Given the description of an element on the screen output the (x, y) to click on. 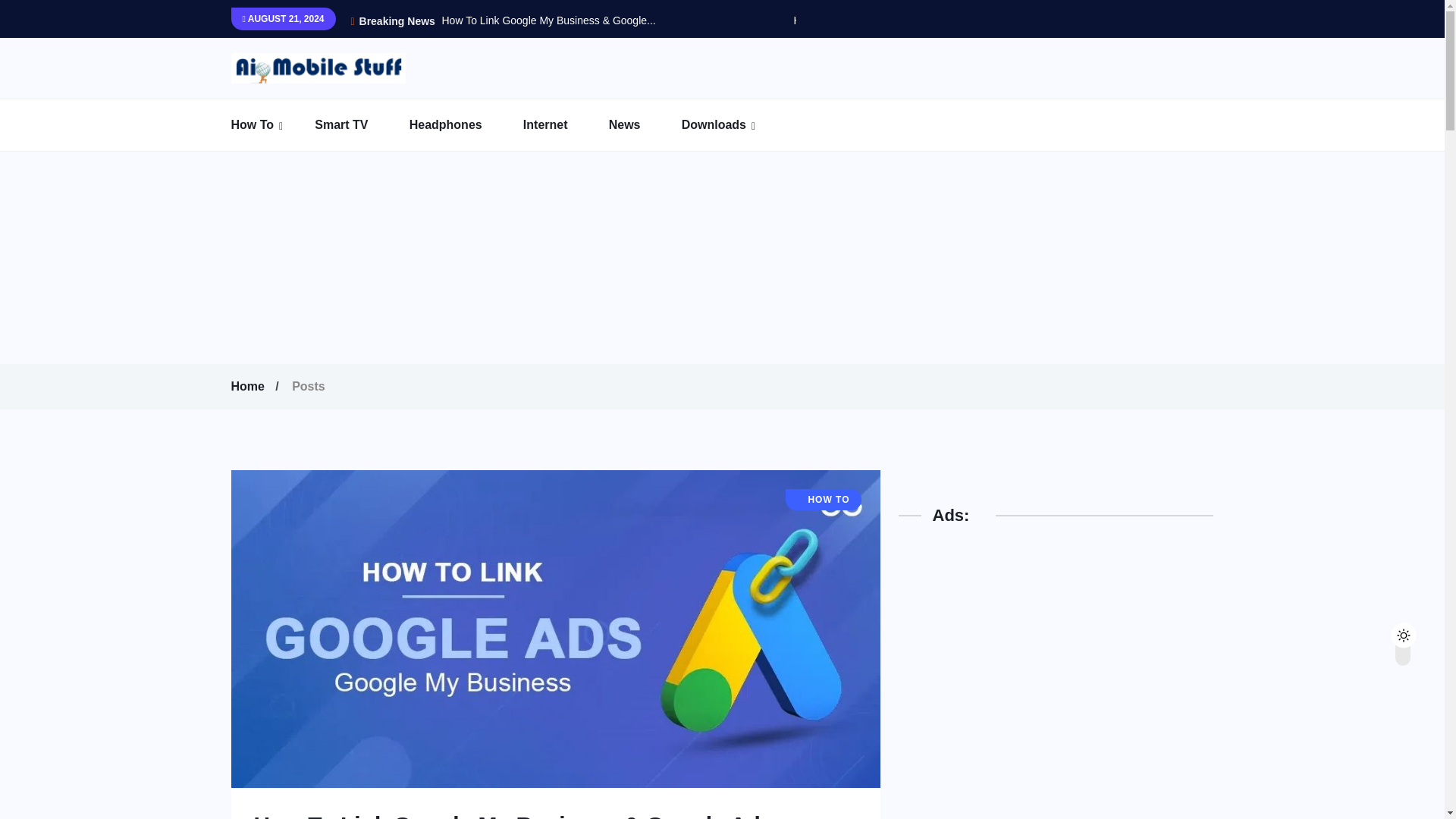
Wallpapers (775, 165)
Home (249, 386)
on (1415, 631)
Downloads (732, 124)
How to Grow your business with Google Ads (898, 20)
Headphones (464, 124)
News (643, 124)
Advertisement (1011, 805)
Android (325, 165)
Smart TV (360, 124)
